Given the description of an element on the screen output the (x, y) to click on. 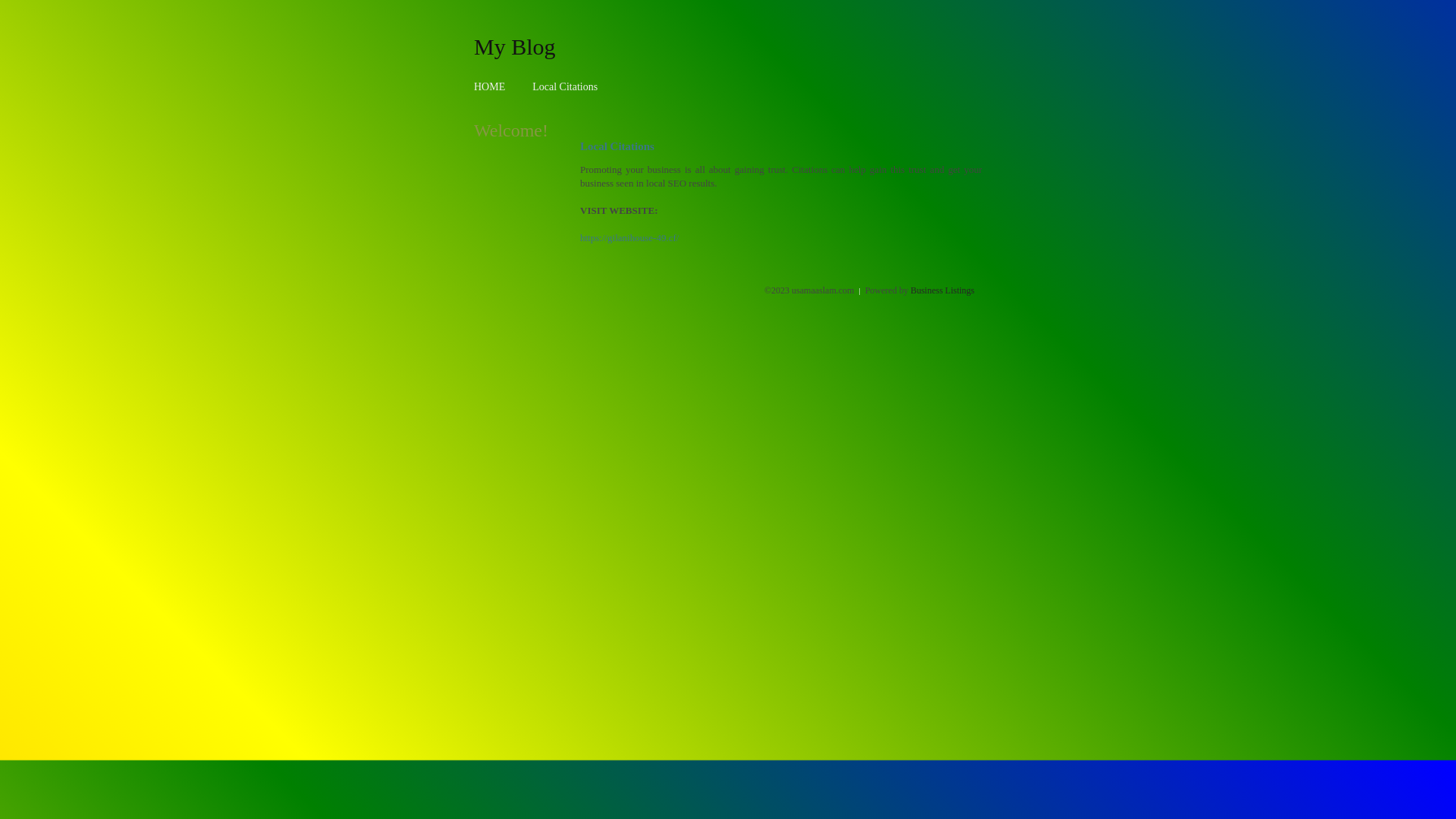
Business Listings Element type: text (942, 290)
Local Citations Element type: text (564, 86)
My Blog Element type: text (514, 46)
https://gilanihouse-49.cf/ Element type: text (629, 237)
HOME Element type: text (489, 86)
